Given the description of an element on the screen output the (x, y) to click on. 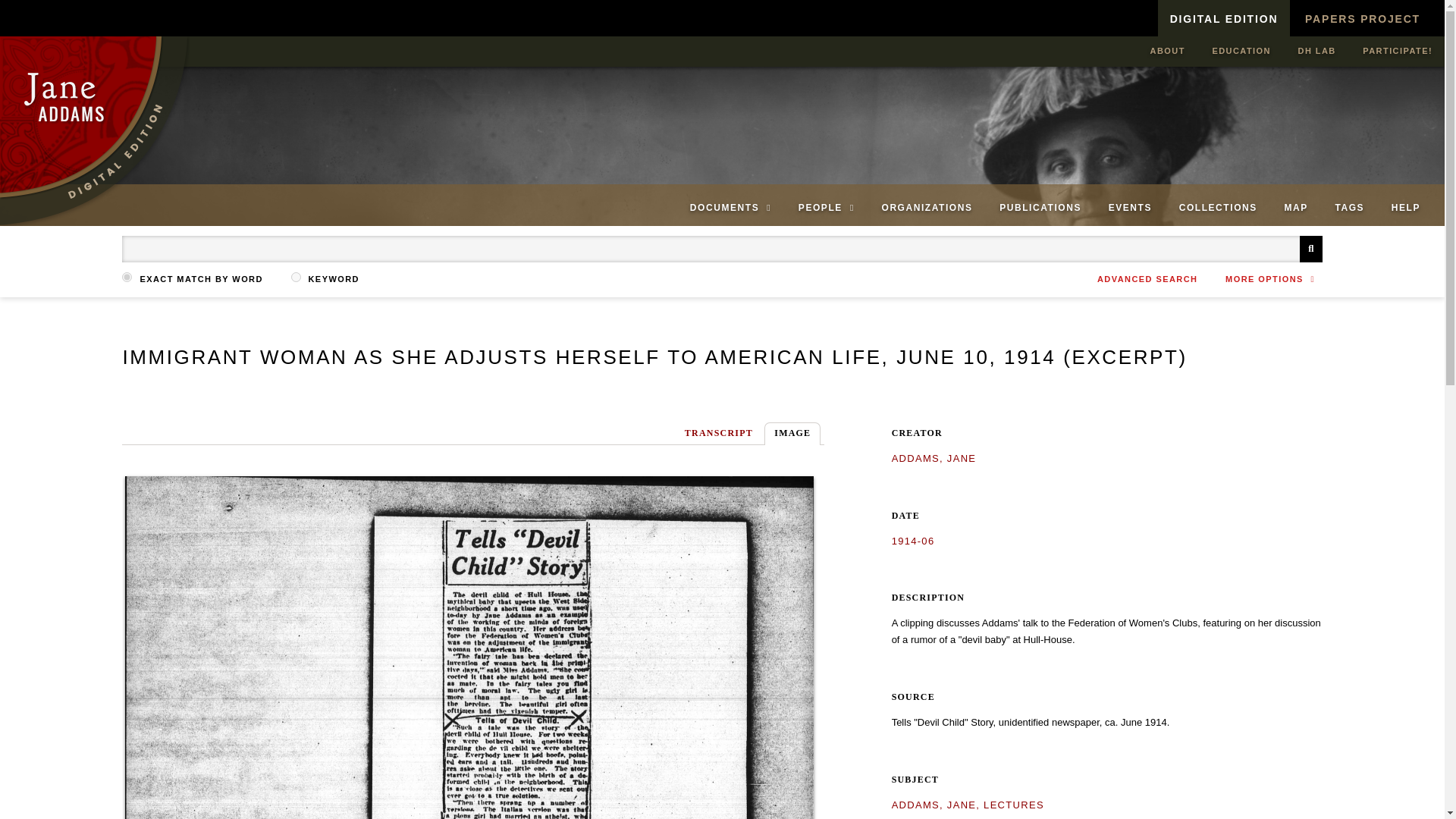
PUBLICATIONS (1040, 207)
EDUCATION (1240, 51)
PEOPLE (826, 207)
ABOUT (1167, 51)
DIGITAL EDITION (1223, 18)
COLLECTIONS (1218, 207)
keyword (296, 276)
TRANSCRIPT (718, 433)
DH LAB (1316, 51)
ADVANCED SEARCH (1146, 278)
TAGS (1348, 207)
IMAGE (792, 433)
HELP (1405, 207)
MORE OPTIONS (1273, 279)
MAP (1295, 207)
